Given the description of an element on the screen output the (x, y) to click on. 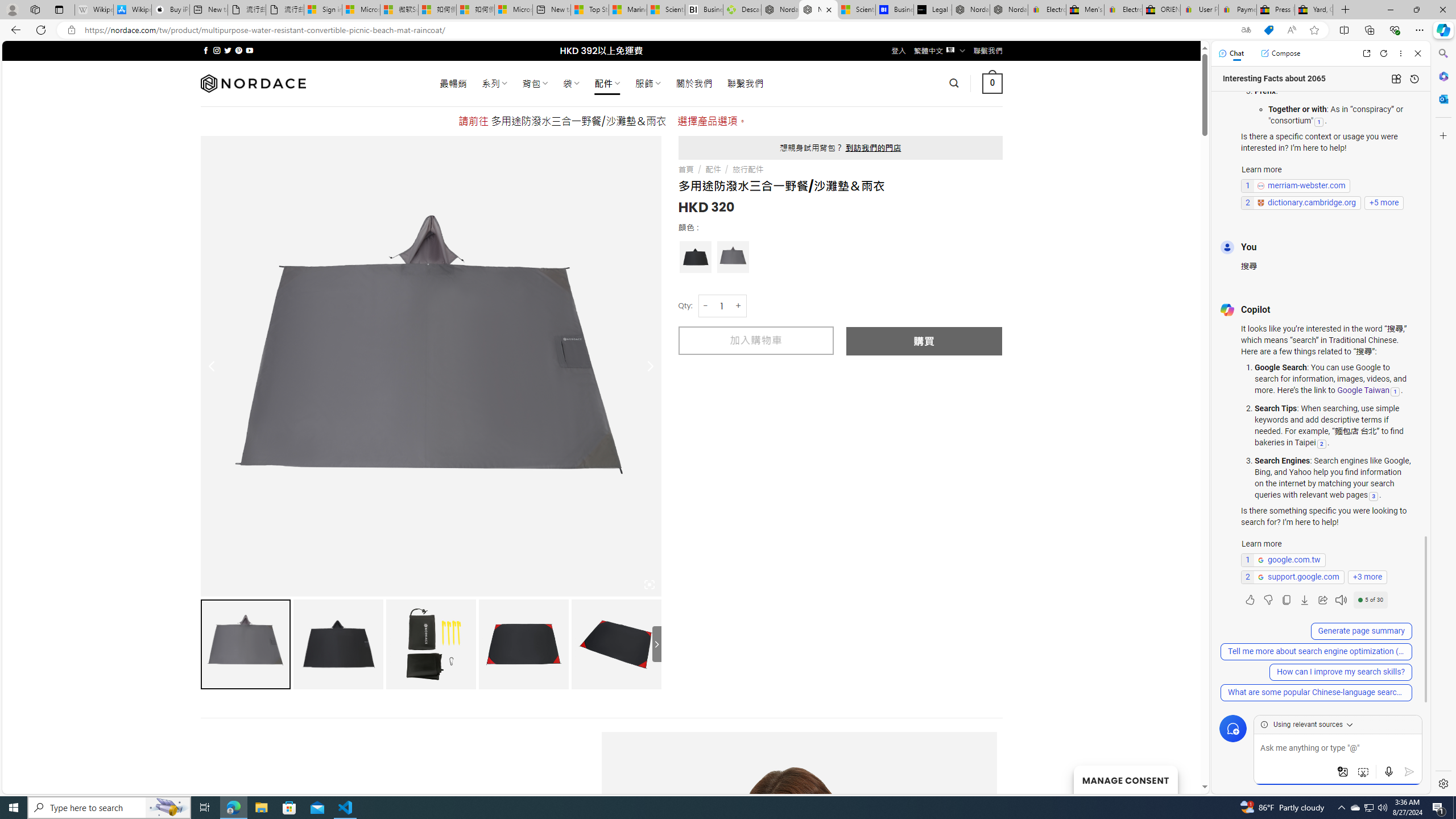
Follow on Pinterest (237, 50)
Follow on Facebook (205, 50)
